Given the description of an element on the screen output the (x, y) to click on. 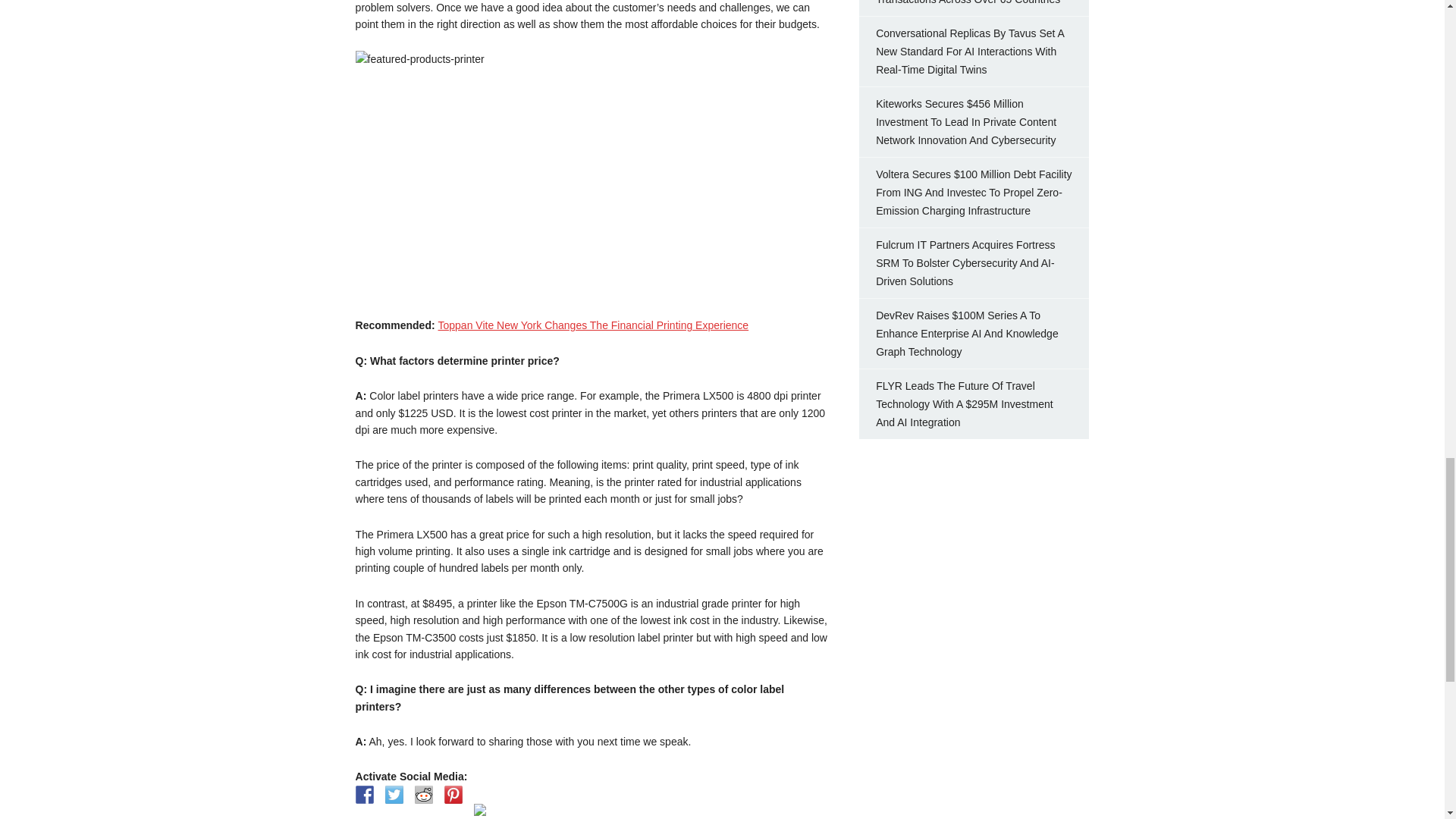
Share on Linkedin (483, 811)
Share on Reddit (423, 794)
Share on Linkedin (480, 809)
Share on Facebook (364, 794)
Pin it with Pinterest (453, 794)
Share on Twitter (394, 794)
